Given the description of an element on the screen output the (x, y) to click on. 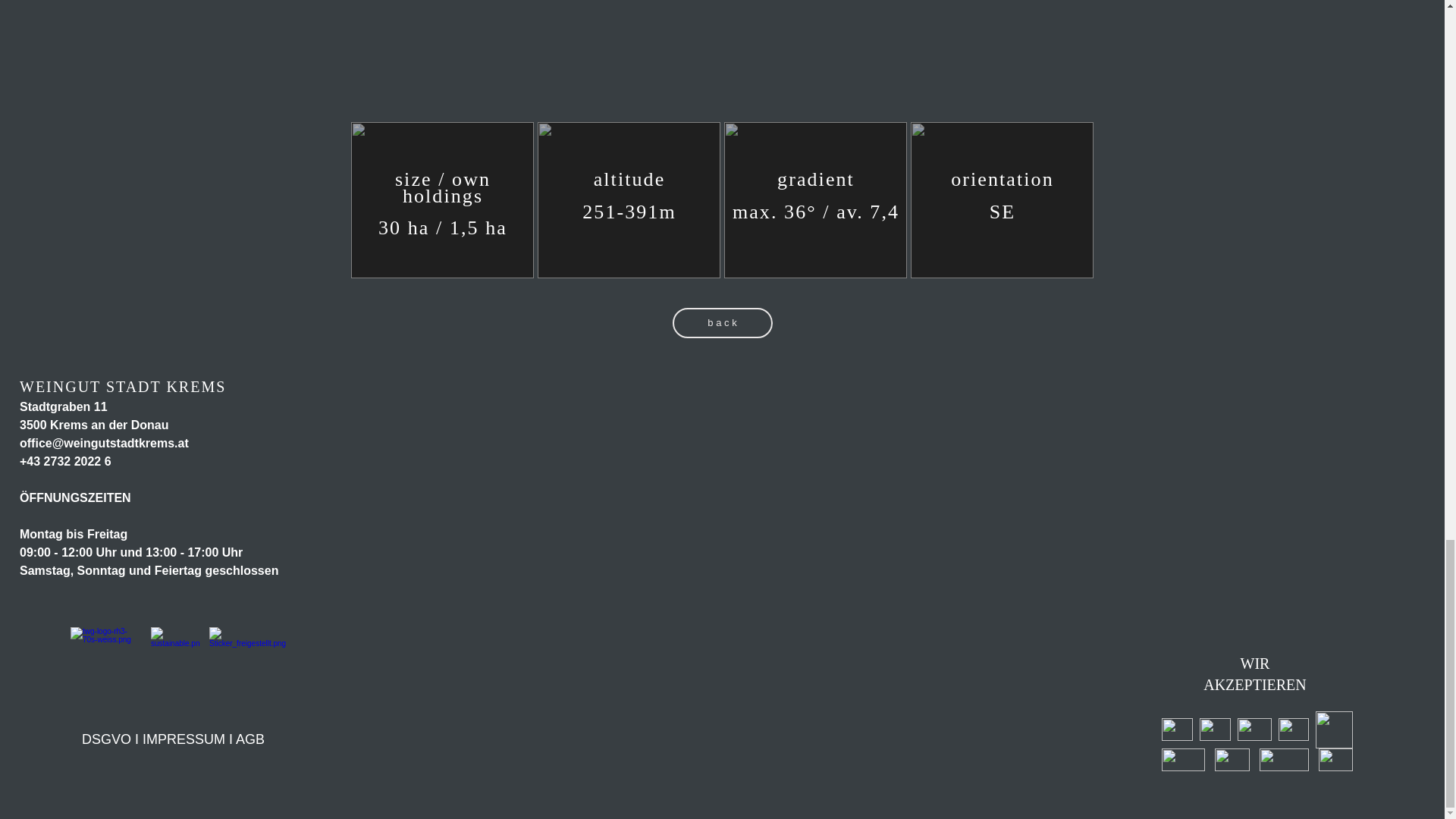
DSGVO (106, 739)
AGB (249, 739)
IMPRESSUM (183, 739)
43 2732 2022 6 (68, 461)
b a c k (721, 322)
